Given the description of an element on the screen output the (x, y) to click on. 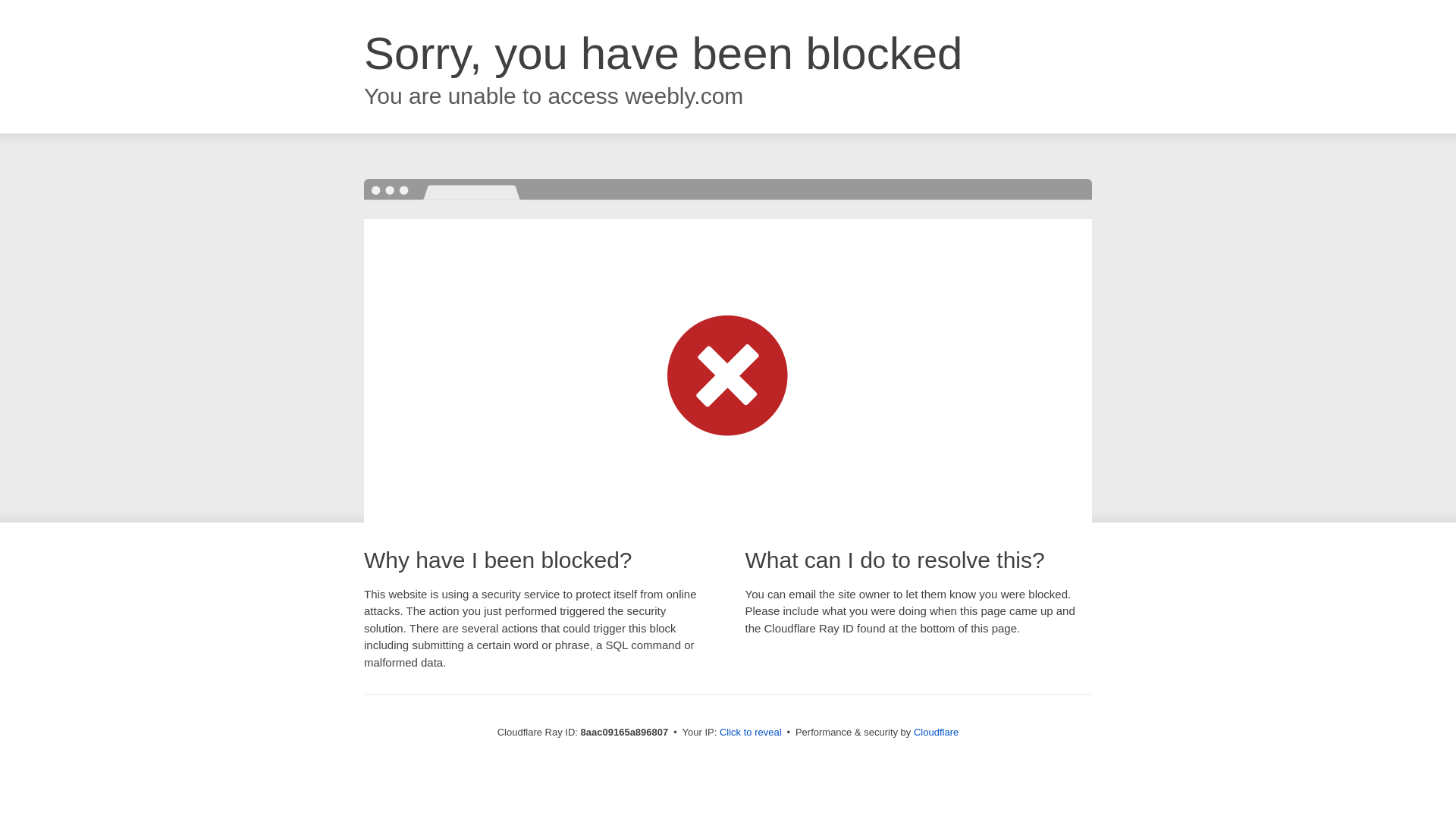
Cloudflare (936, 731)
Click to reveal (750, 732)
